Given the description of an element on the screen output the (x, y) to click on. 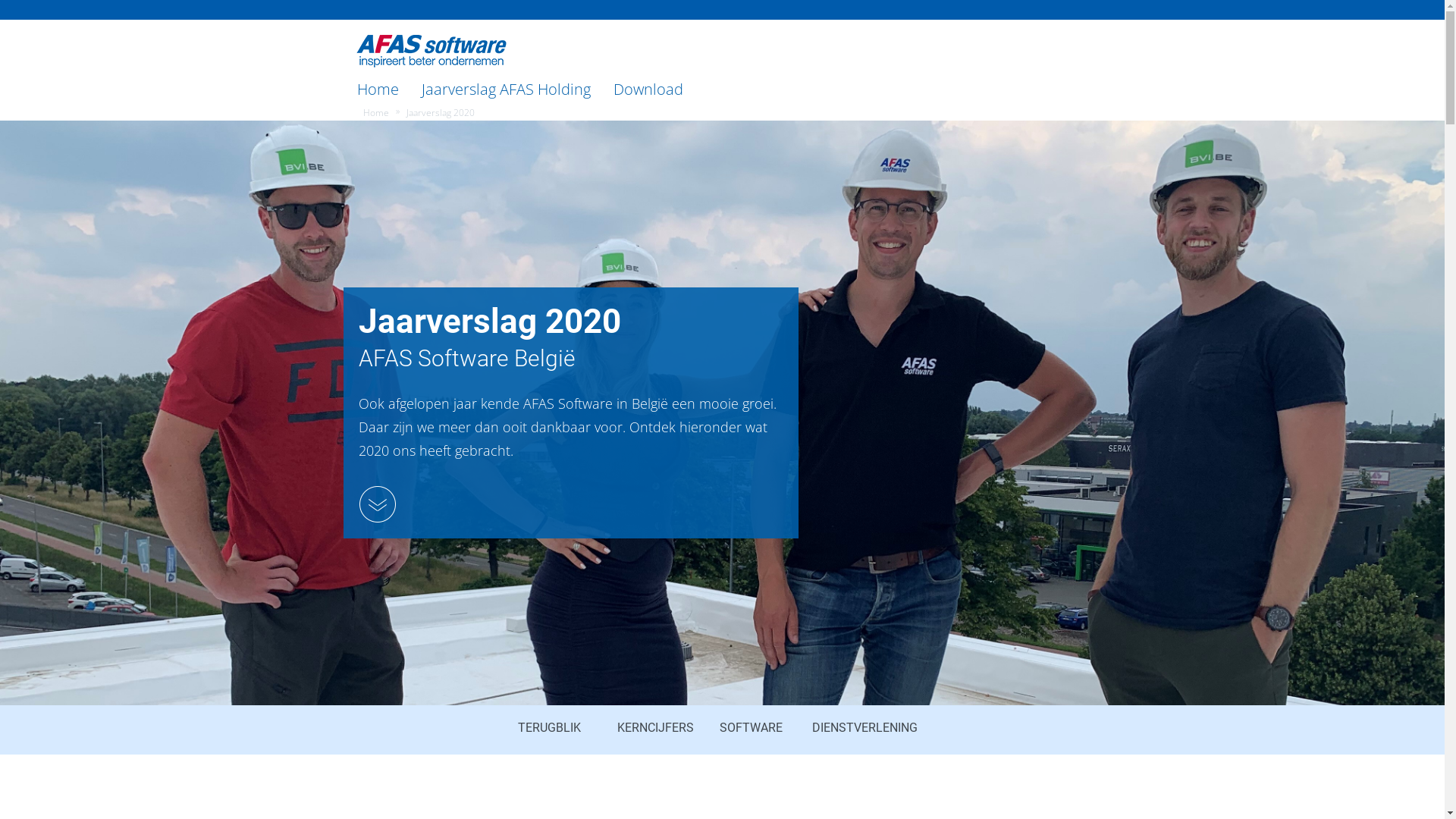
Download Element type: text (648, 88)
SOFTWARE Element type: text (750, 726)
Jaarverslag AFAS Holding Element type: text (505, 88)
KERNCIJFERS Element type: text (655, 726)
DIENSTVERLENING Element type: text (863, 726)
Jaarverslag 2020 Element type: text (440, 112)
TERUGBLIK Element type: text (548, 726)
Home Element type: text (377, 88)
Home Element type: text (374, 112)
